Given the description of an element on the screen output the (x, y) to click on. 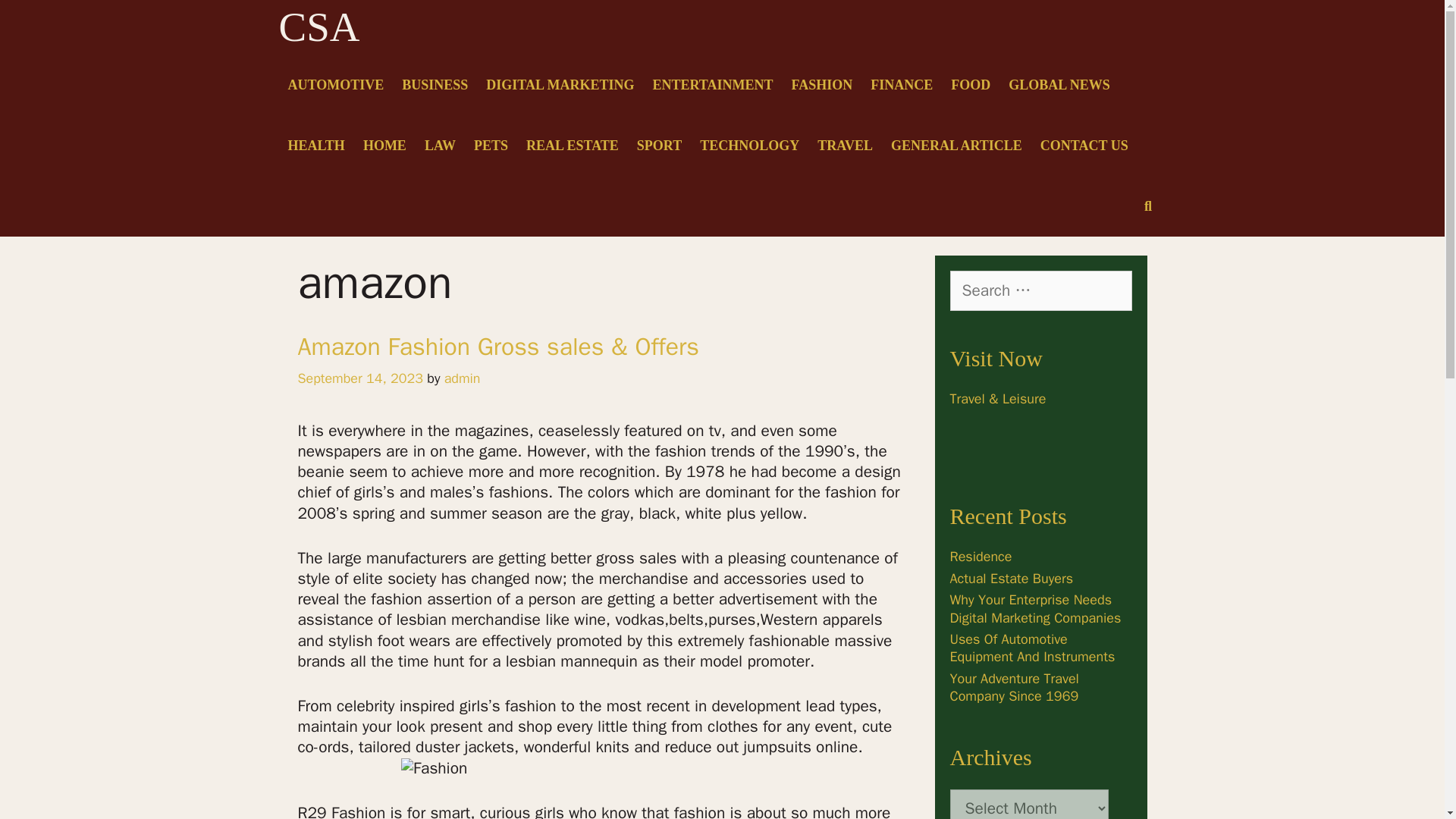
CONTACT US (1083, 145)
GLOBAL NEWS (1058, 84)
admin (462, 378)
ENTERTAINMENT (712, 84)
Search for: (1040, 290)
FOOD (970, 84)
TRAVEL (845, 145)
TECHNOLOGY (749, 145)
HOME (383, 145)
FASHION (822, 84)
Search (34, 18)
DIGITAL MARKETING (560, 84)
September 14, 2023 (359, 378)
